Given the description of an element on the screen output the (x, y) to click on. 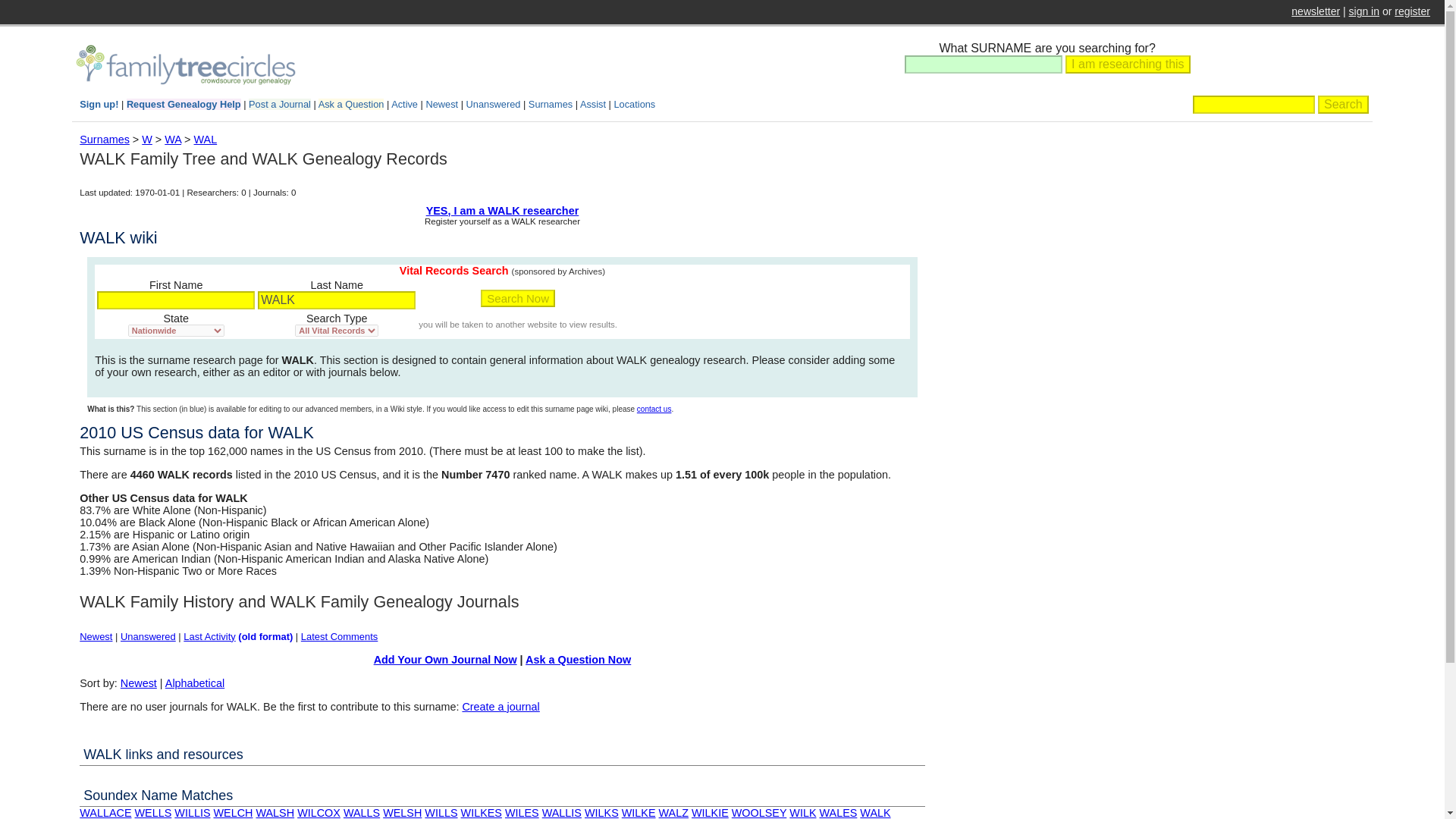
WILCOX (318, 812)
Surnames (104, 139)
WALSH (275, 812)
Post a Journal (279, 103)
WALK (335, 300)
Ask a Question Now (577, 659)
Search Now (517, 298)
WALLACE (105, 812)
I am researching this (1128, 64)
Family Tree Circles (185, 64)
